Given the description of an element on the screen output the (x, y) to click on. 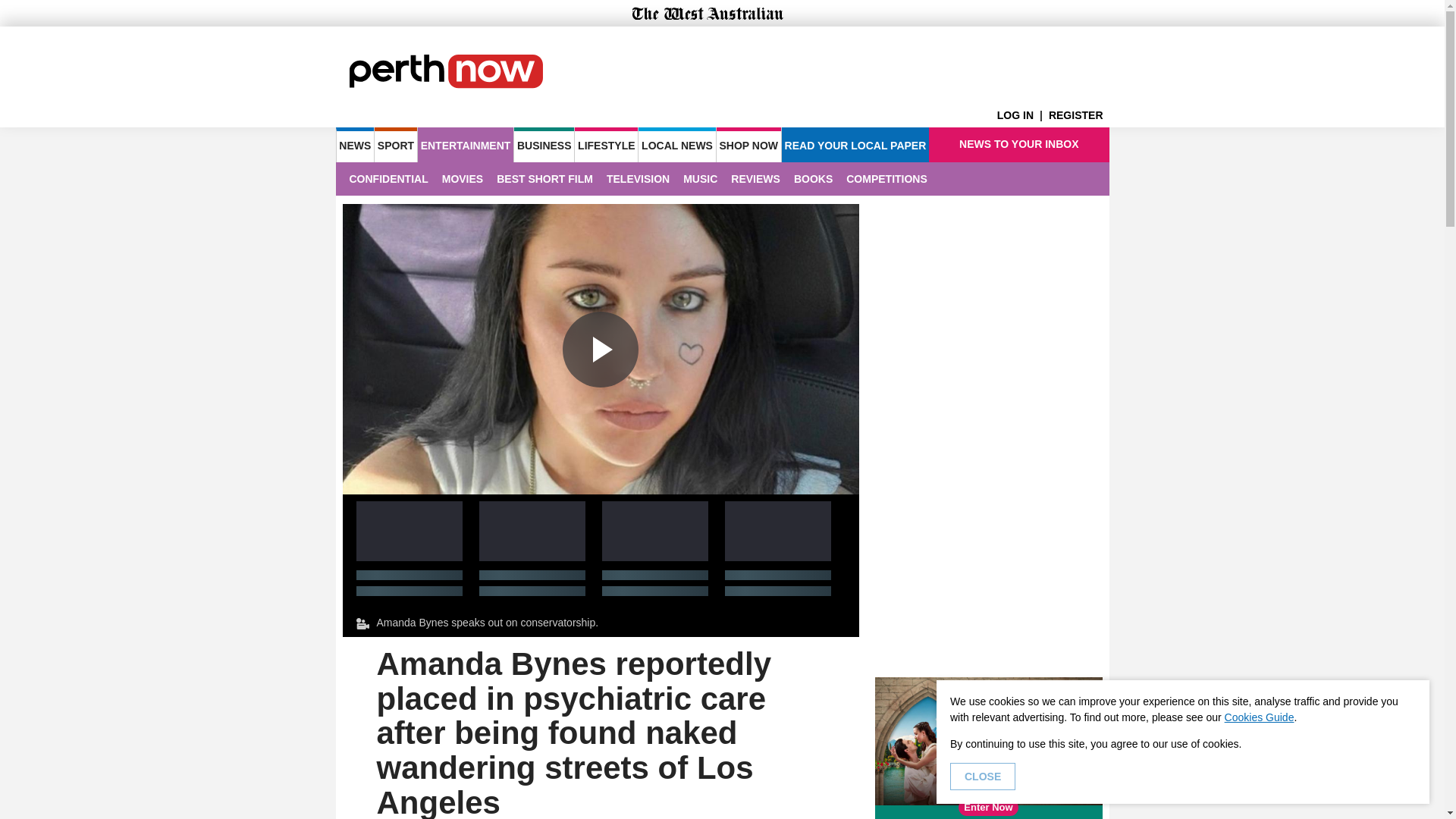
ENTERTAINMENT (465, 144)
NEWS (354, 144)
LOG IN (1022, 115)
REGISTER (1078, 115)
SPORT (395, 144)
Play Video (600, 349)
